Given the description of an element on the screen output the (x, y) to click on. 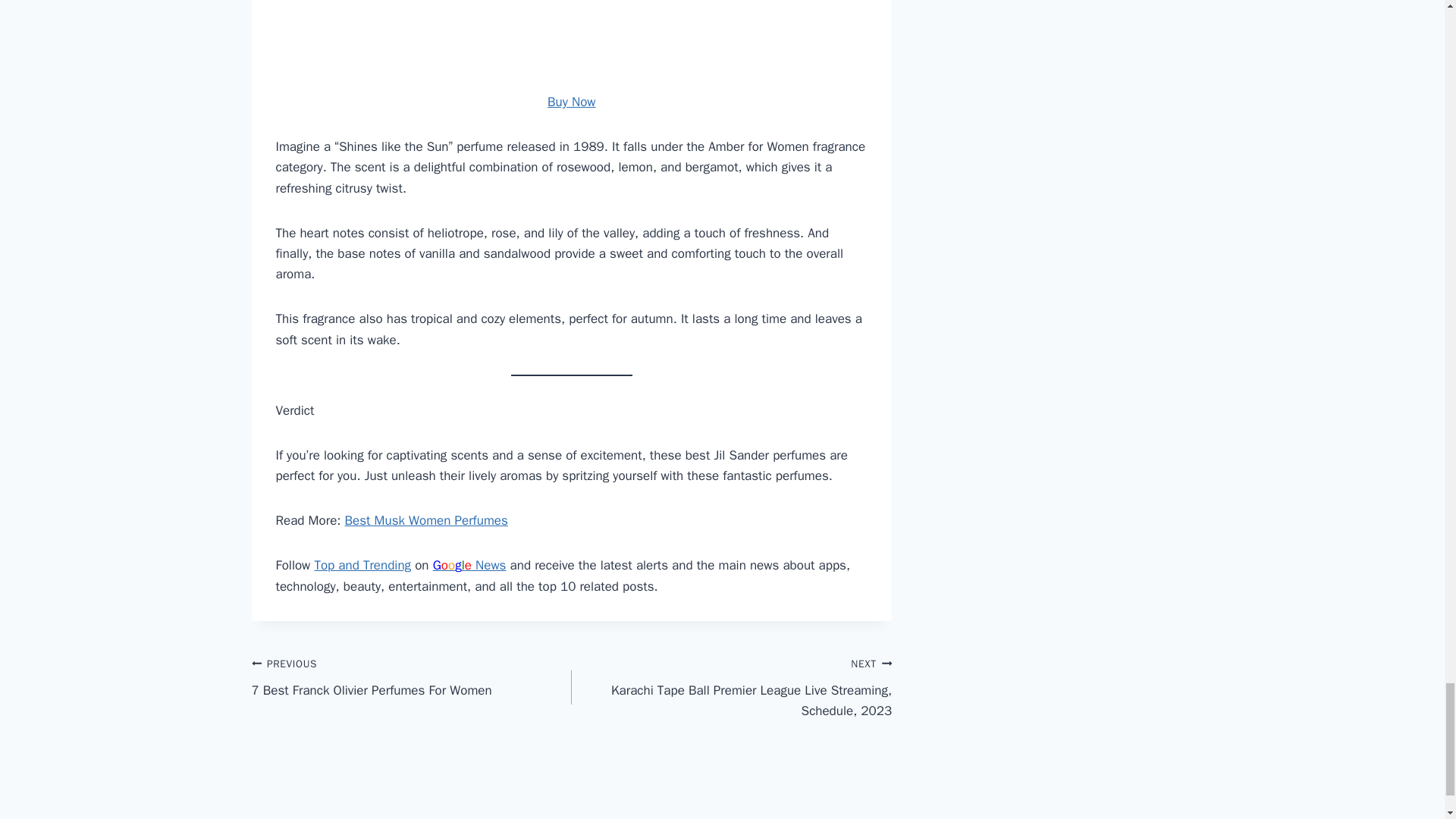
Buy Now (571, 101)
Google News (469, 565)
Top and Trending (411, 676)
Best Musk Women Perfumes (362, 565)
